Given the description of an element on the screen output the (x, y) to click on. 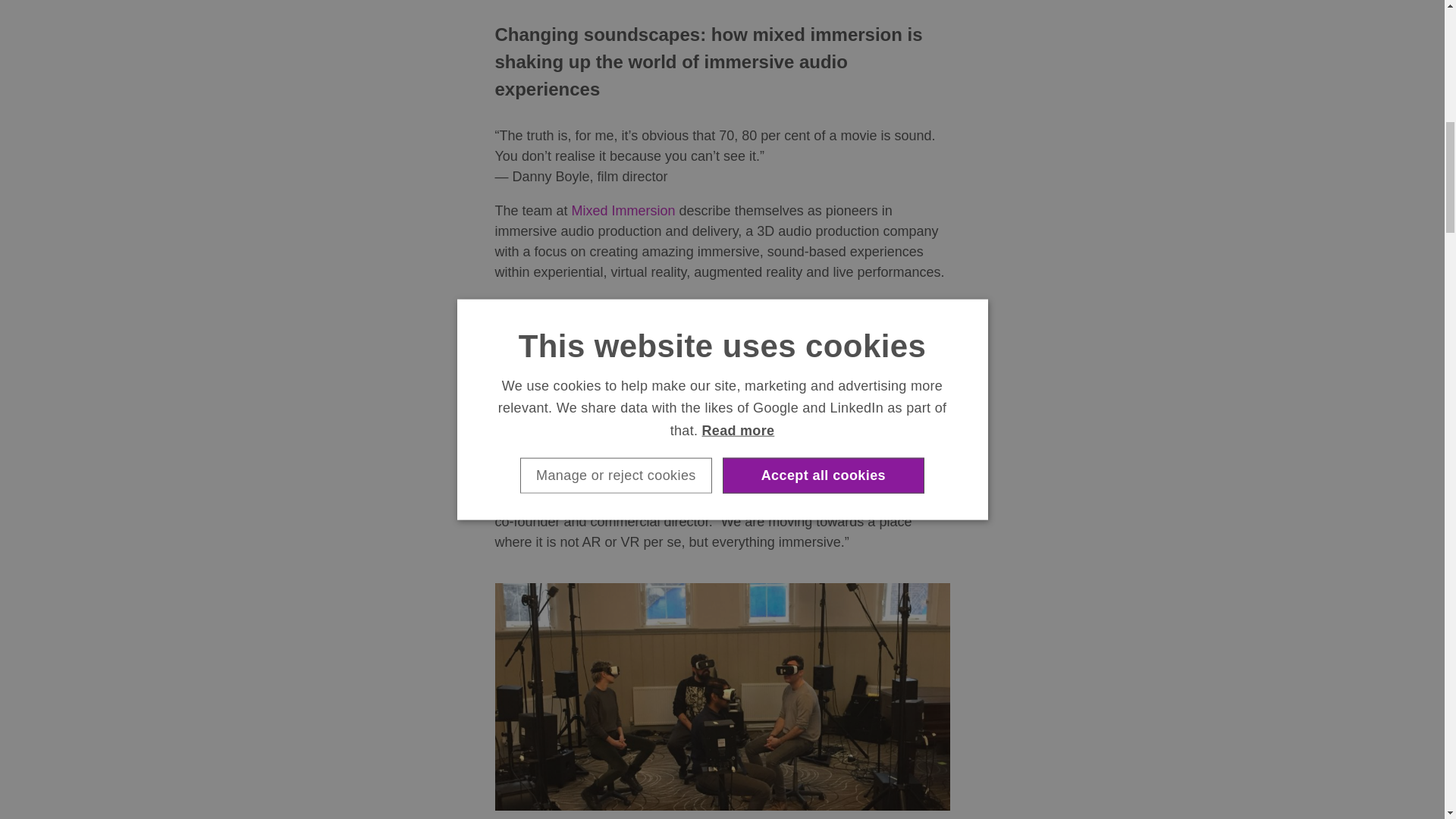
Mixed Immersion (623, 210)
